Given the description of an element on the screen output the (x, y) to click on. 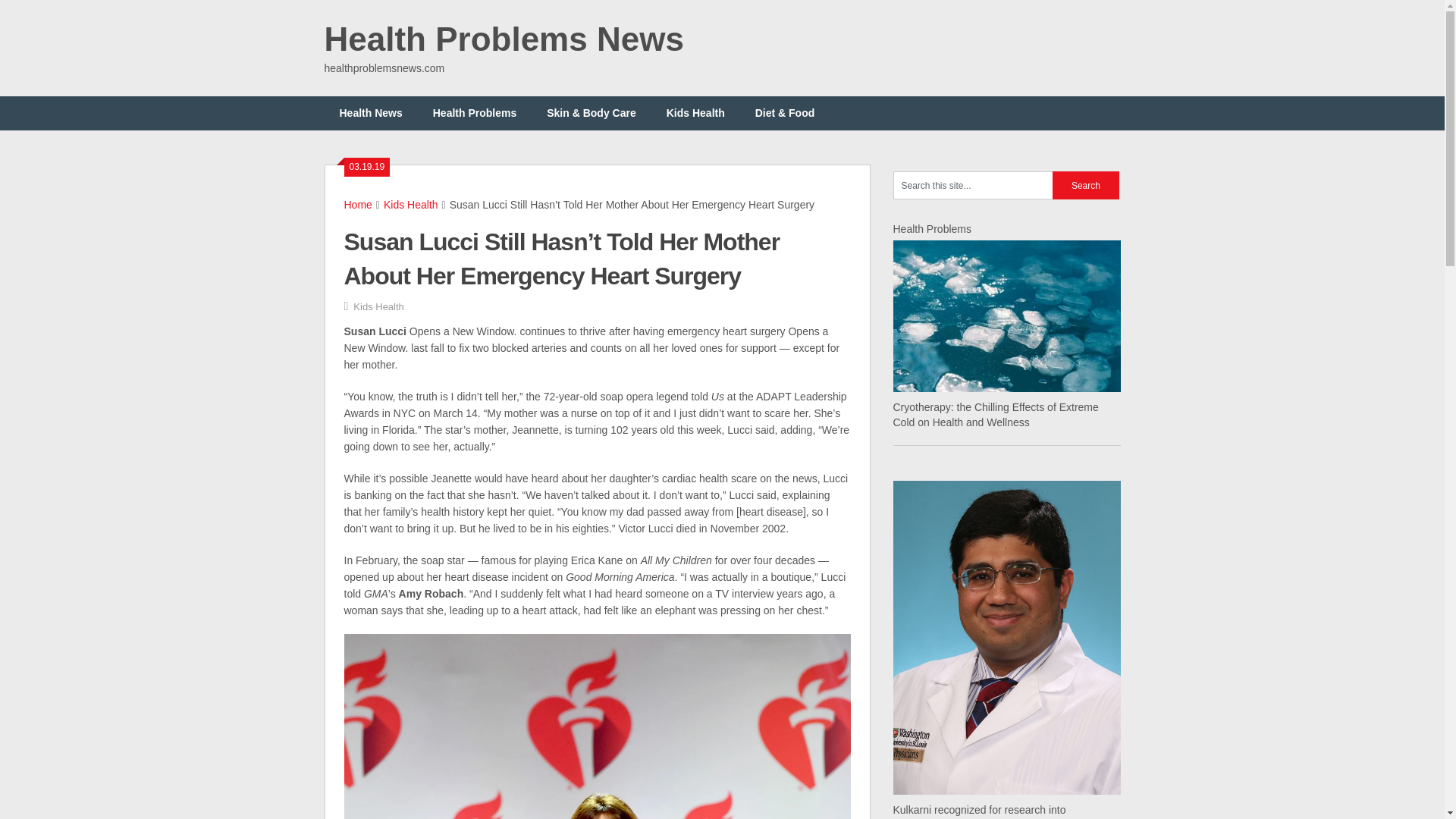
Health Problems (474, 113)
Kids Health (411, 204)
Search (1085, 185)
Health Problems News (504, 38)
Kids Health (694, 113)
Health News (370, 113)
Kulkarni recognized for research into complement system (979, 811)
Kids Health (378, 306)
Home (357, 204)
Search this site... (972, 185)
Search (1085, 185)
